Given the description of an element on the screen output the (x, y) to click on. 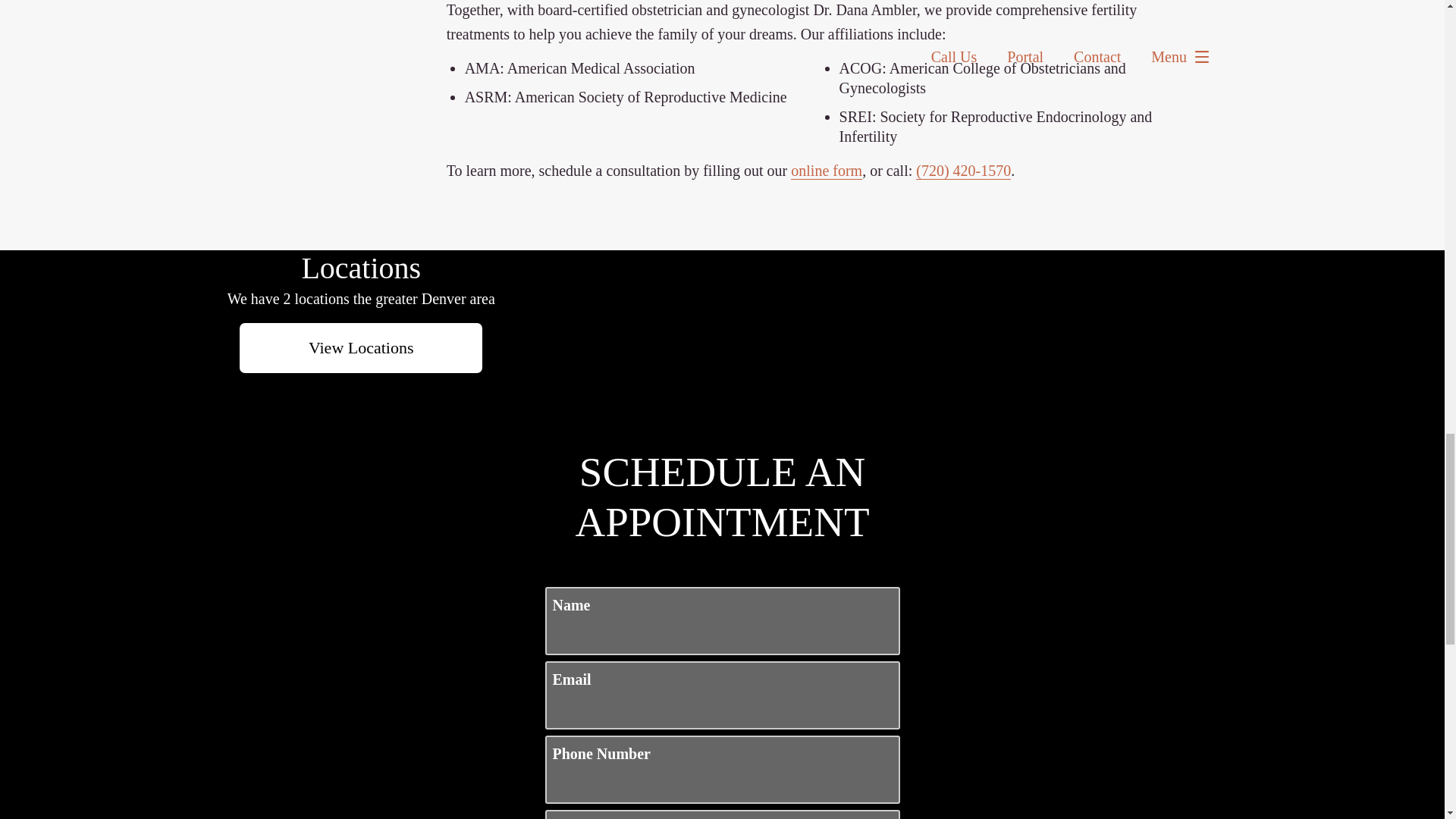
View Locations (360, 347)
Locations (835, 262)
online form (825, 170)
